Given the description of an element on the screen output the (x, y) to click on. 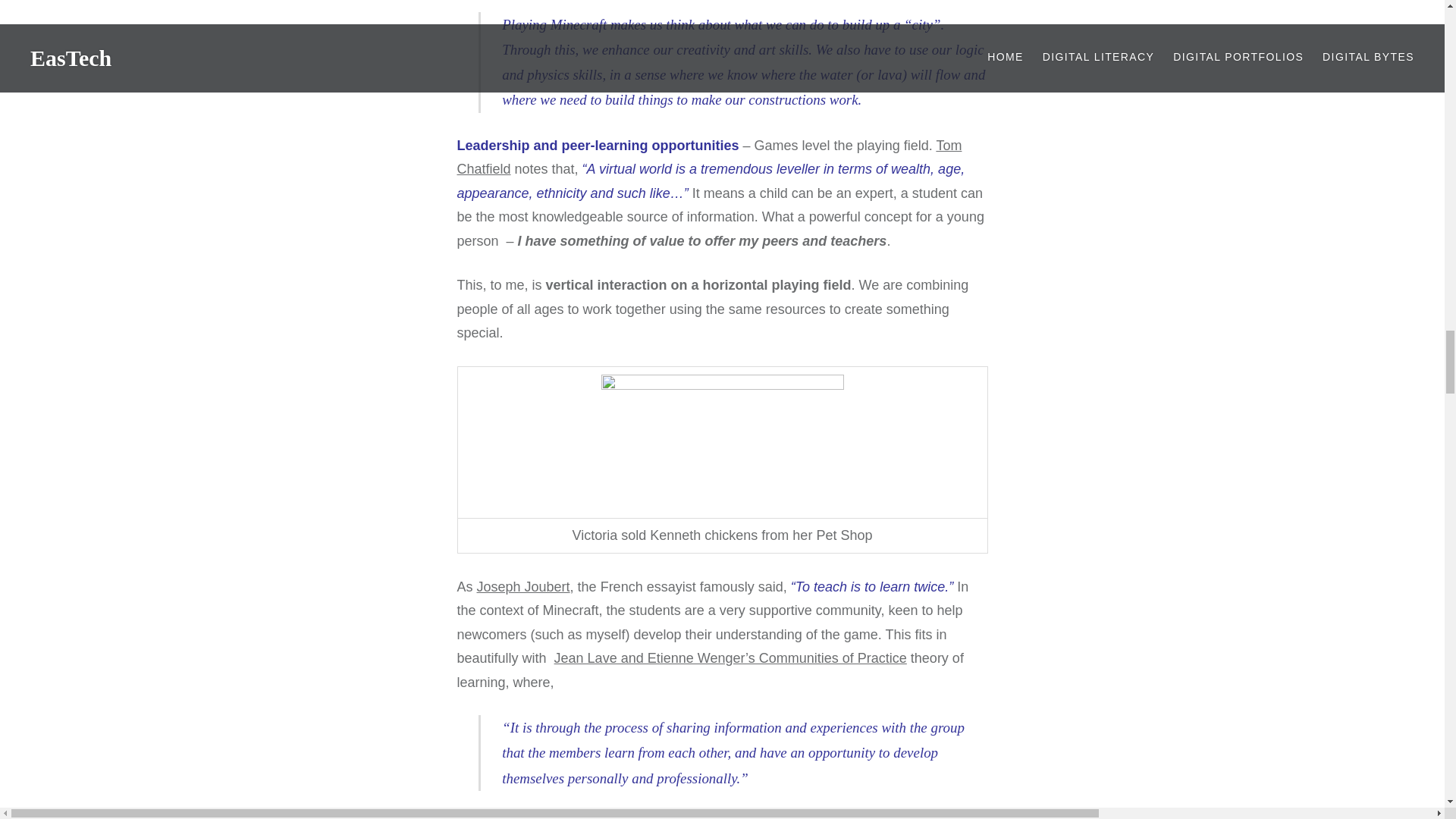
Joseph Joubert (523, 586)
Tom Chatfield (708, 157)
